Given the description of an element on the screen output the (x, y) to click on. 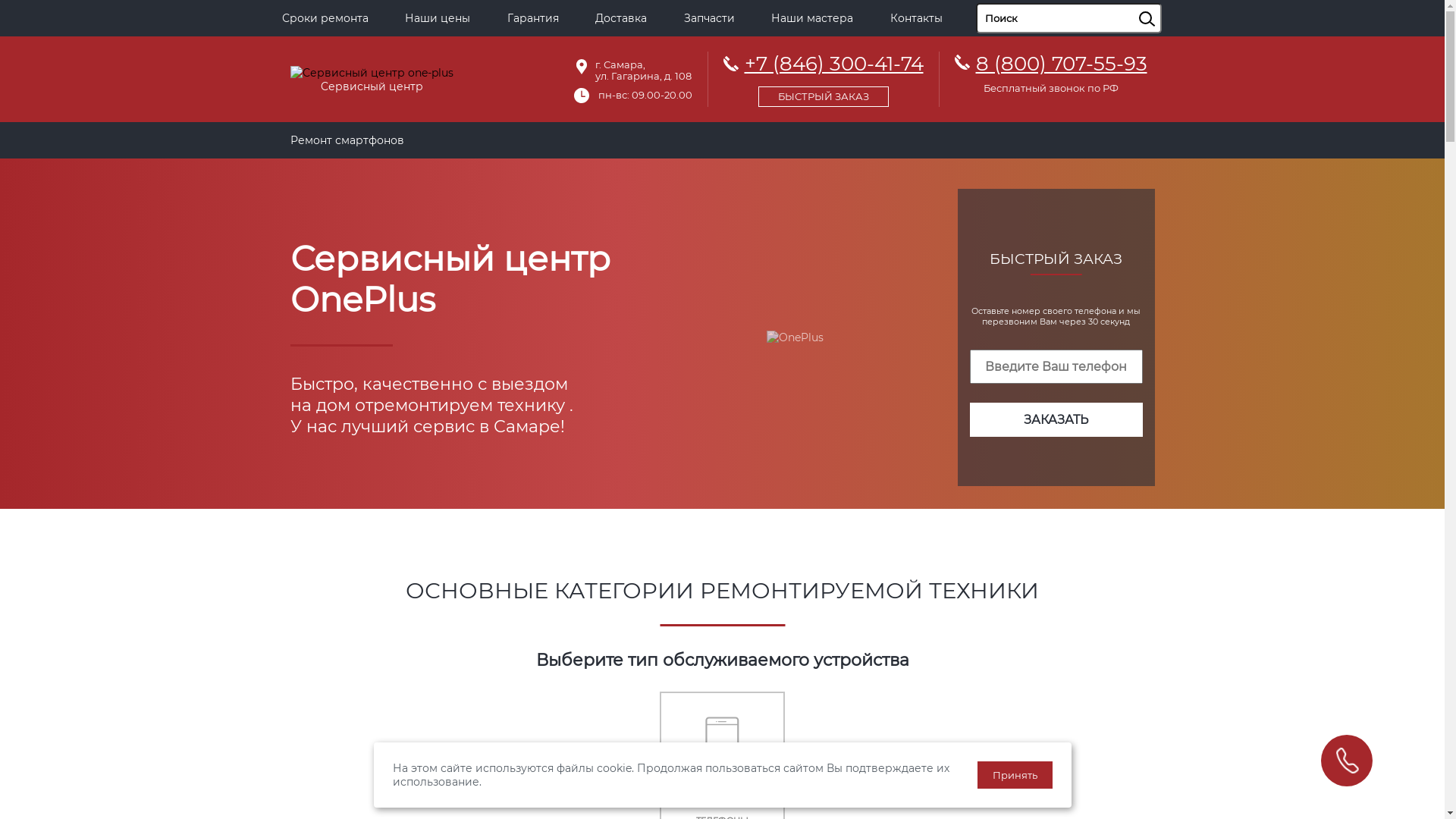
sisea.search Element type: text (1165, 3)
+7 (846) 300-41-74 Element type: text (823, 77)
8 (800) 707-55-93 Element type: text (1060, 63)
